Given the description of an element on the screen output the (x, y) to click on. 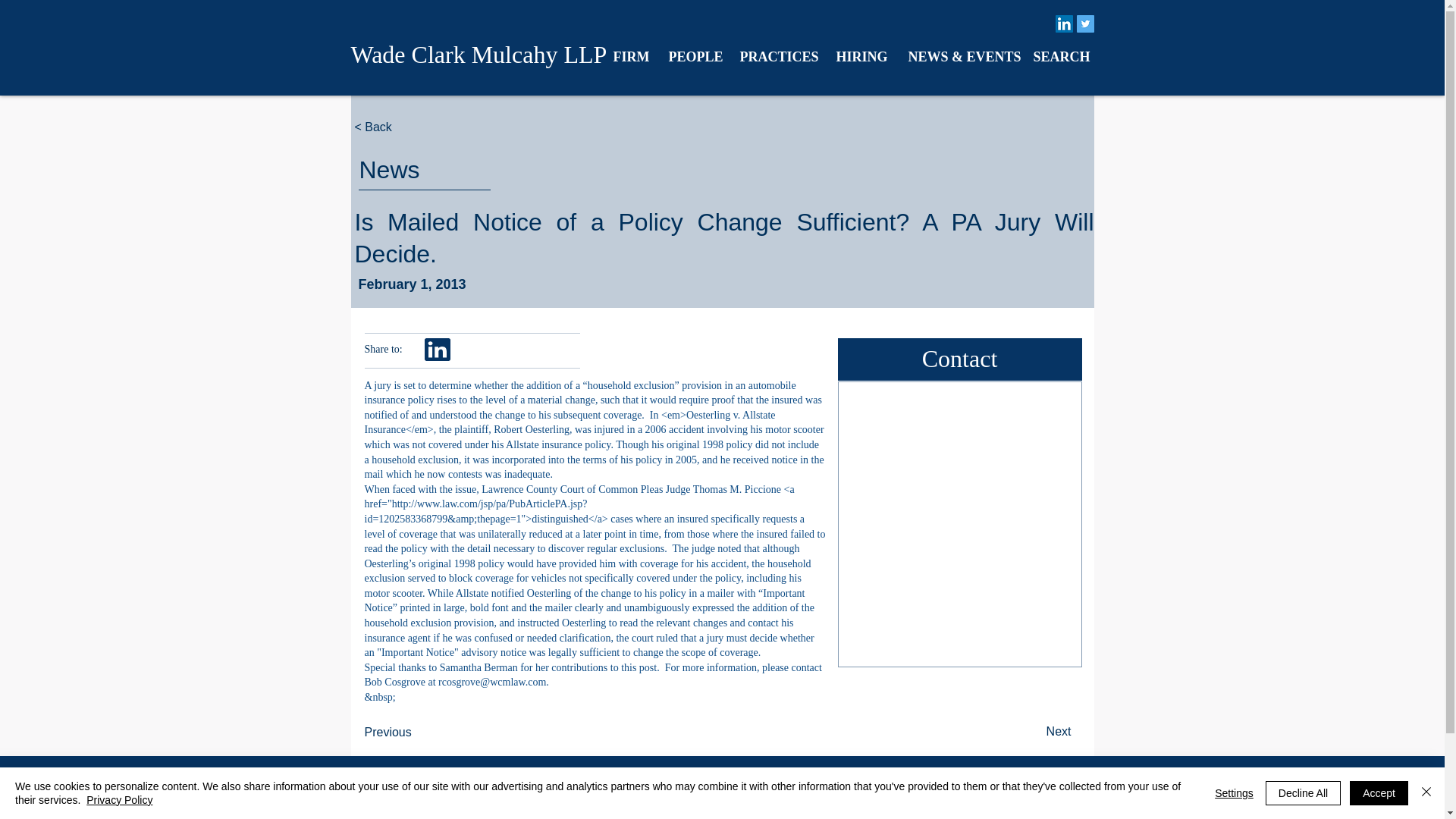
New Jersey (747, 797)
Decline All (1302, 793)
Accept (1378, 793)
PEOPLE (692, 56)
Privacy Policy (118, 799)
HIRING (860, 56)
FIRM (630, 56)
SEARCH (1059, 56)
Florida (503, 786)
Next (1032, 732)
